Given the description of an element on the screen output the (x, y) to click on. 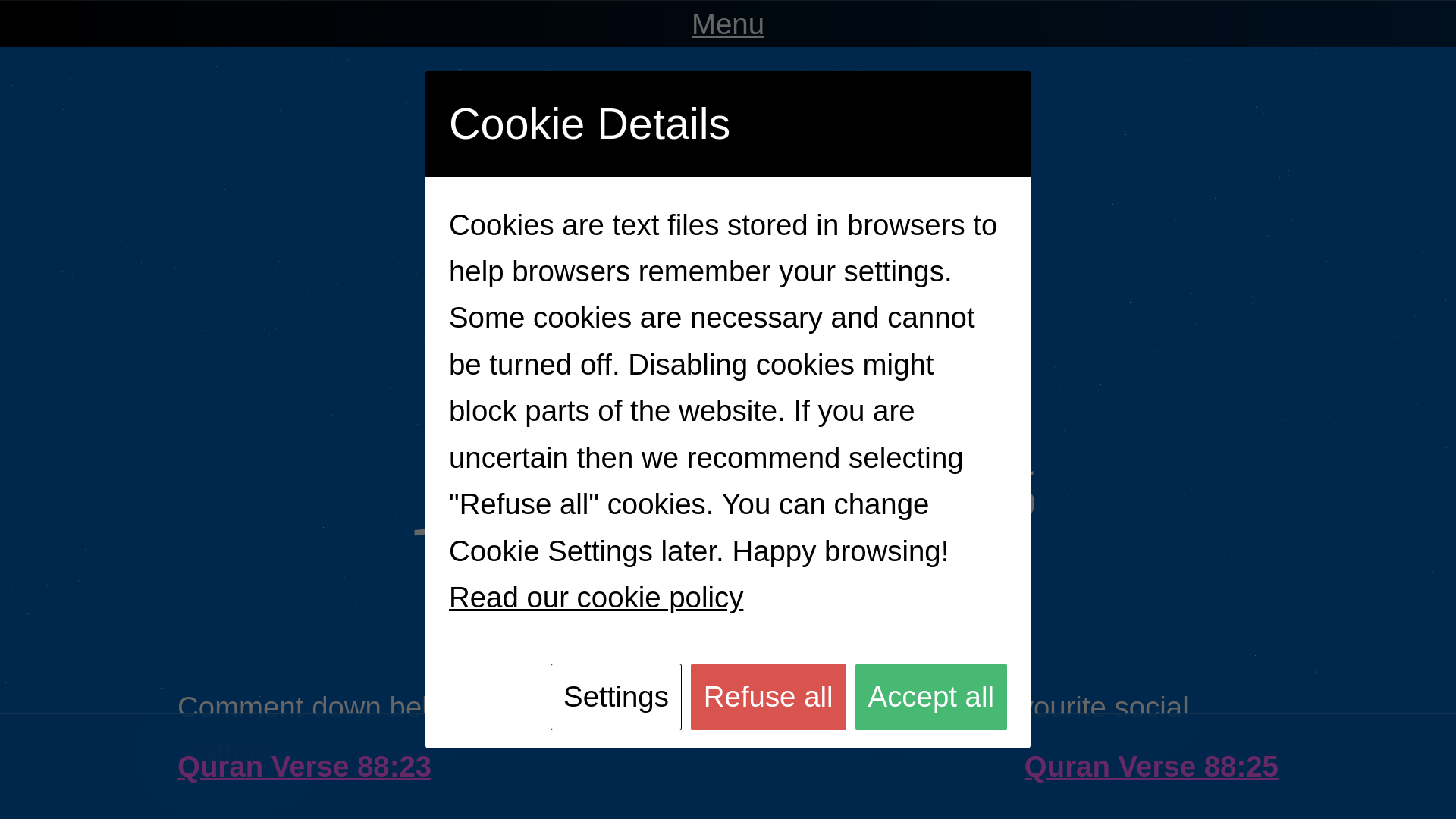
Menu (727, 23)
